Given the description of an element on the screen output the (x, y) to click on. 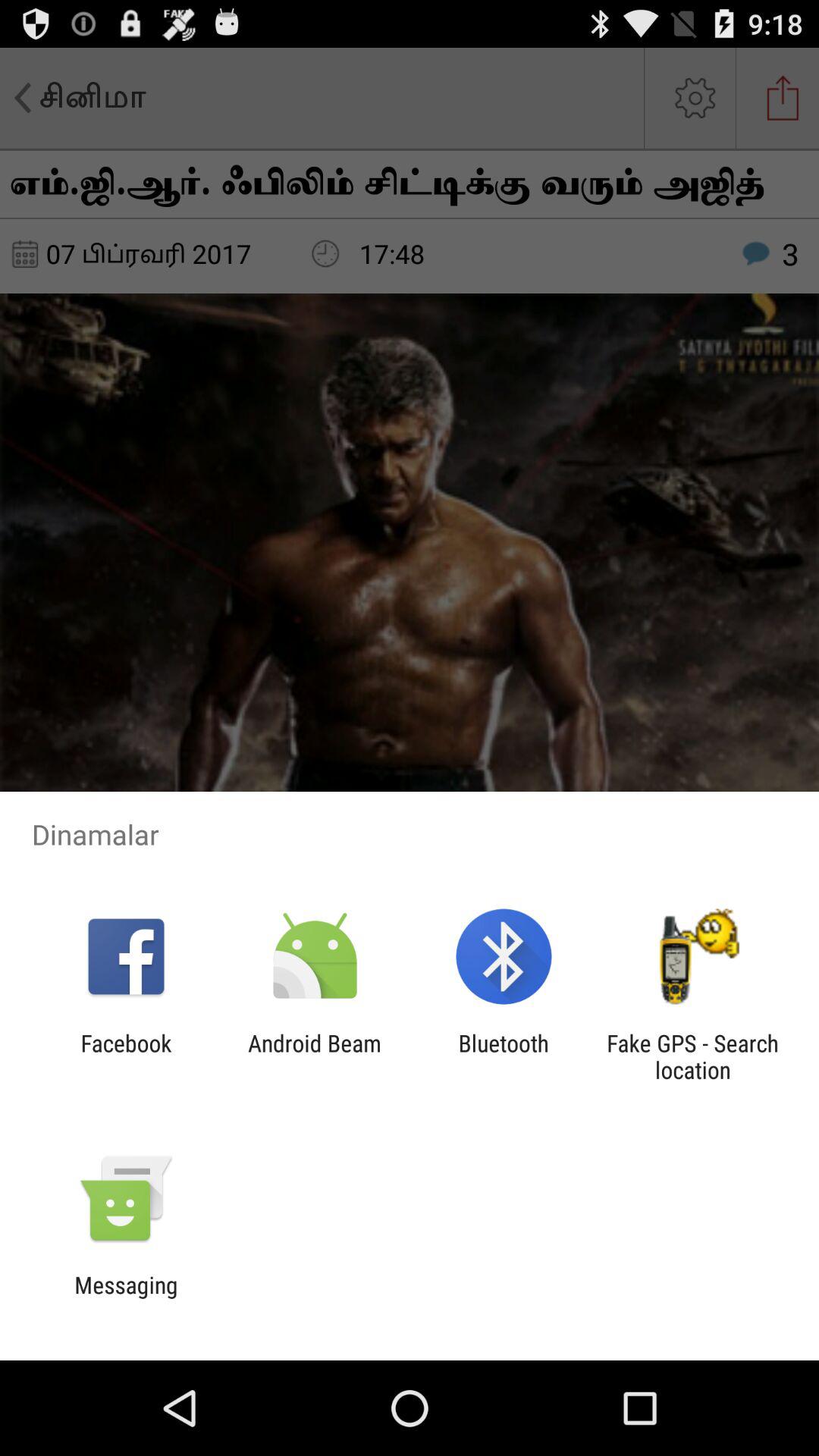
select the bluetooth app (503, 1056)
